Given the description of an element on the screen output the (x, y) to click on. 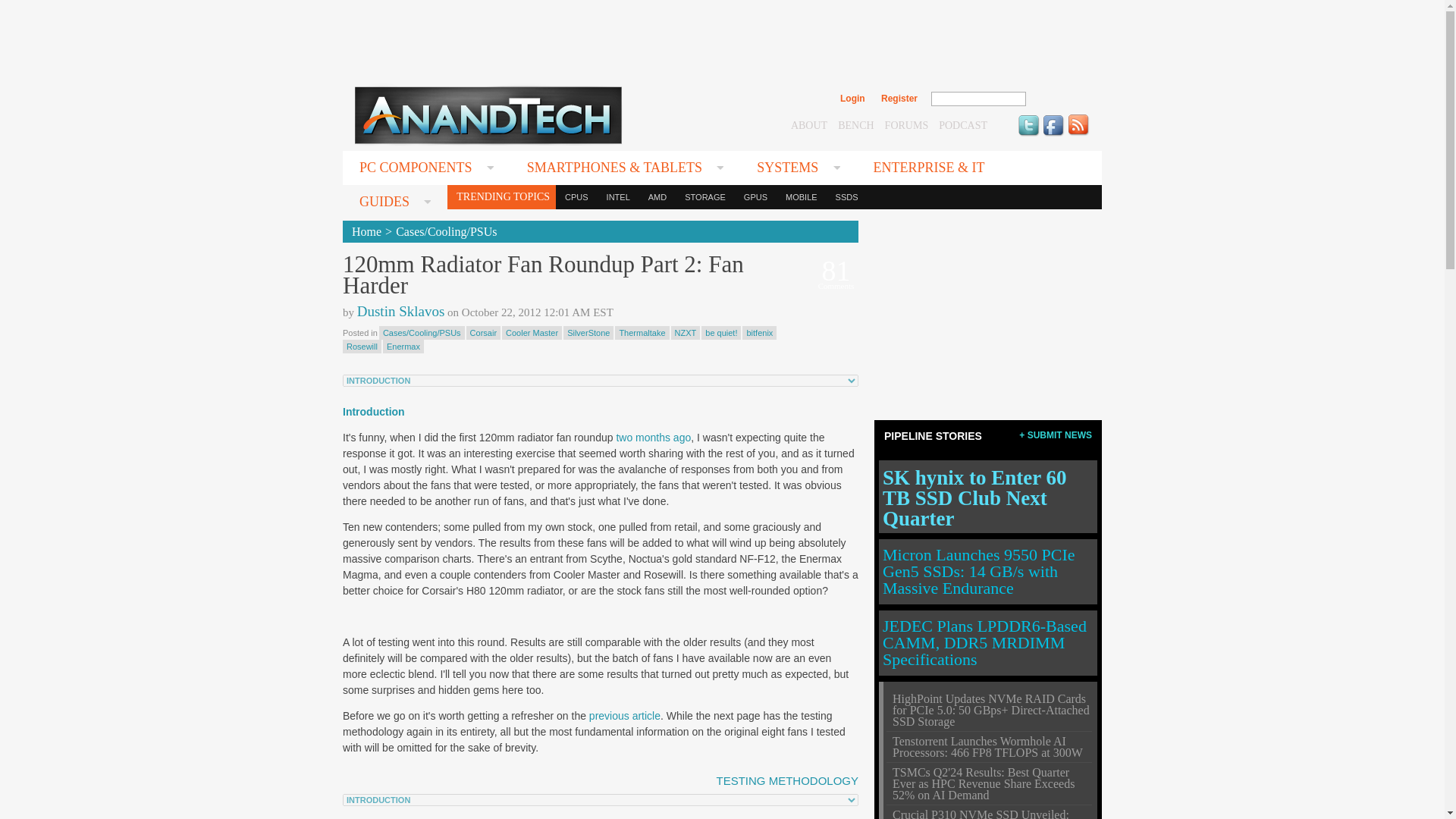
Register (898, 98)
BENCH (855, 125)
ABOUT (808, 125)
Login (852, 98)
search (1059, 98)
PODCAST (963, 125)
FORUMS (906, 125)
search (1059, 98)
search (1059, 98)
